Given the description of an element on the screen output the (x, y) to click on. 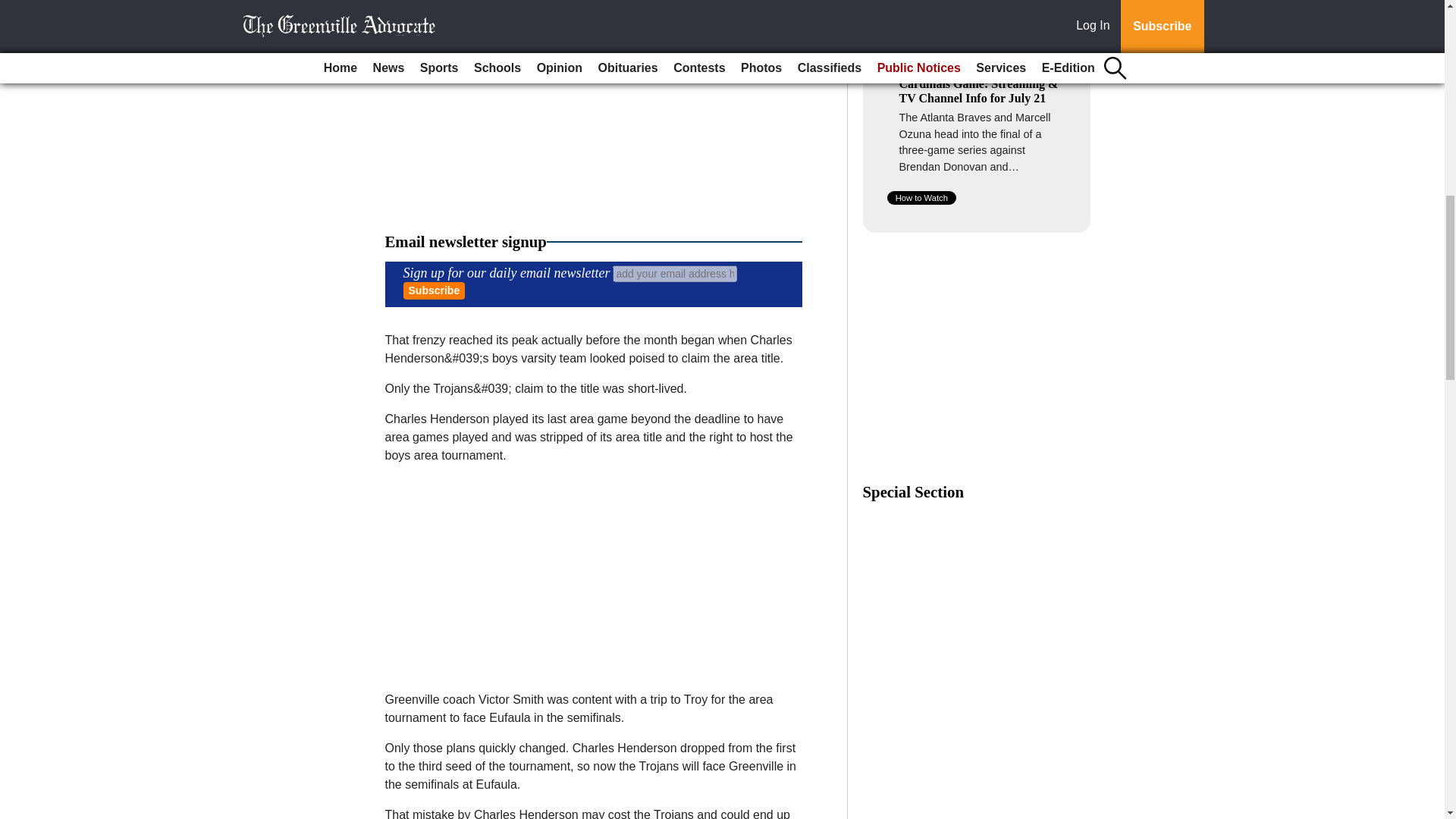
Subscribe (434, 290)
Subscribe (434, 290)
